Given the description of an element on the screen output the (x, y) to click on. 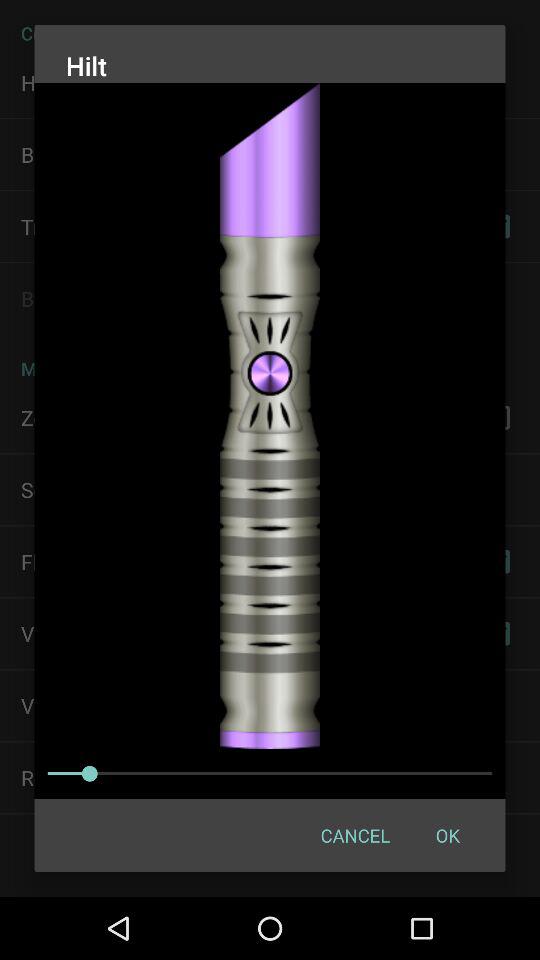
turn off cancel item (354, 834)
